Given the description of an element on the screen output the (x, y) to click on. 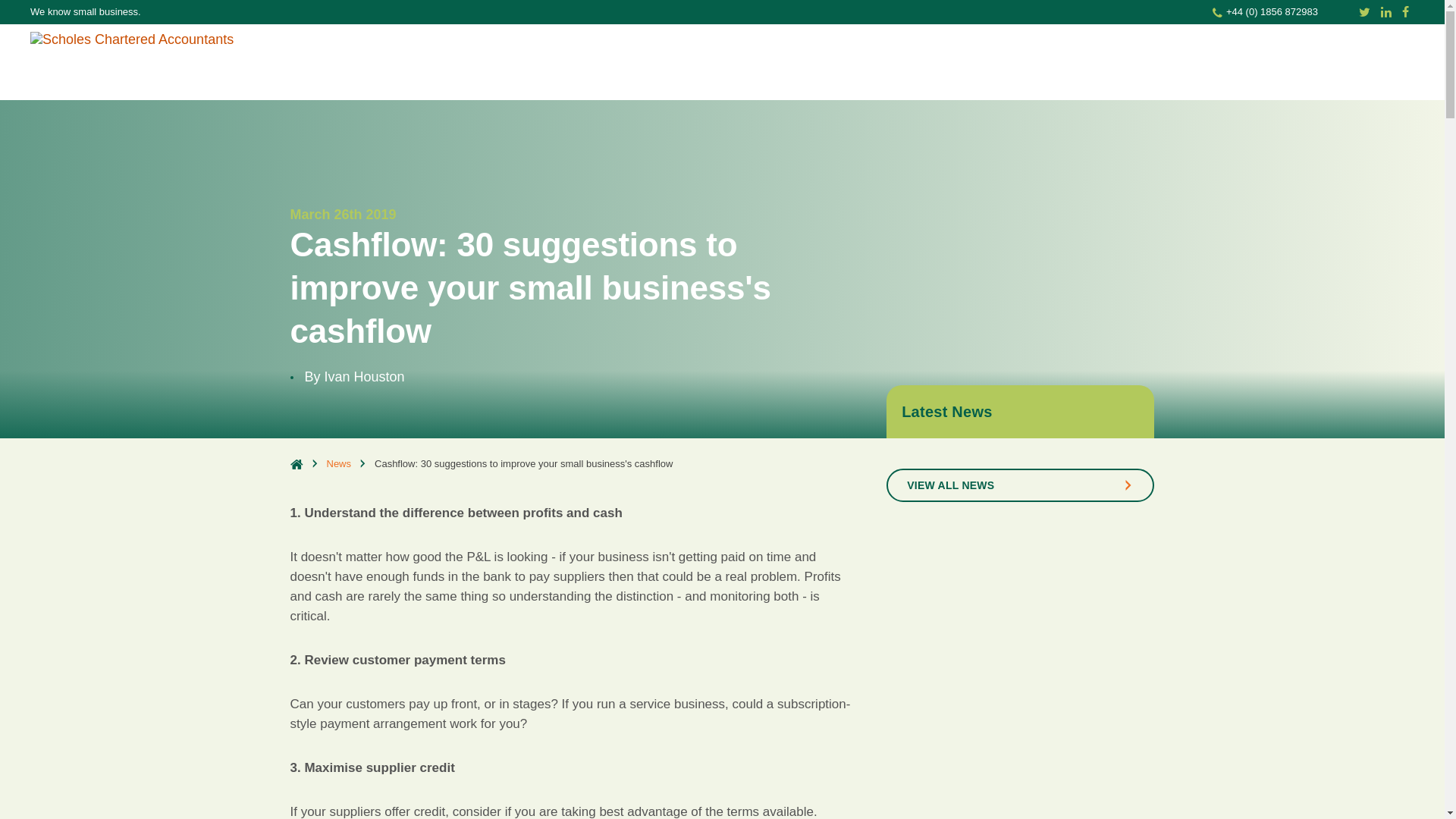
VIEW ALL NEWS (1020, 485)
Ivan Houston (364, 376)
News (338, 463)
